Given the description of an element on the screen output the (x, y) to click on. 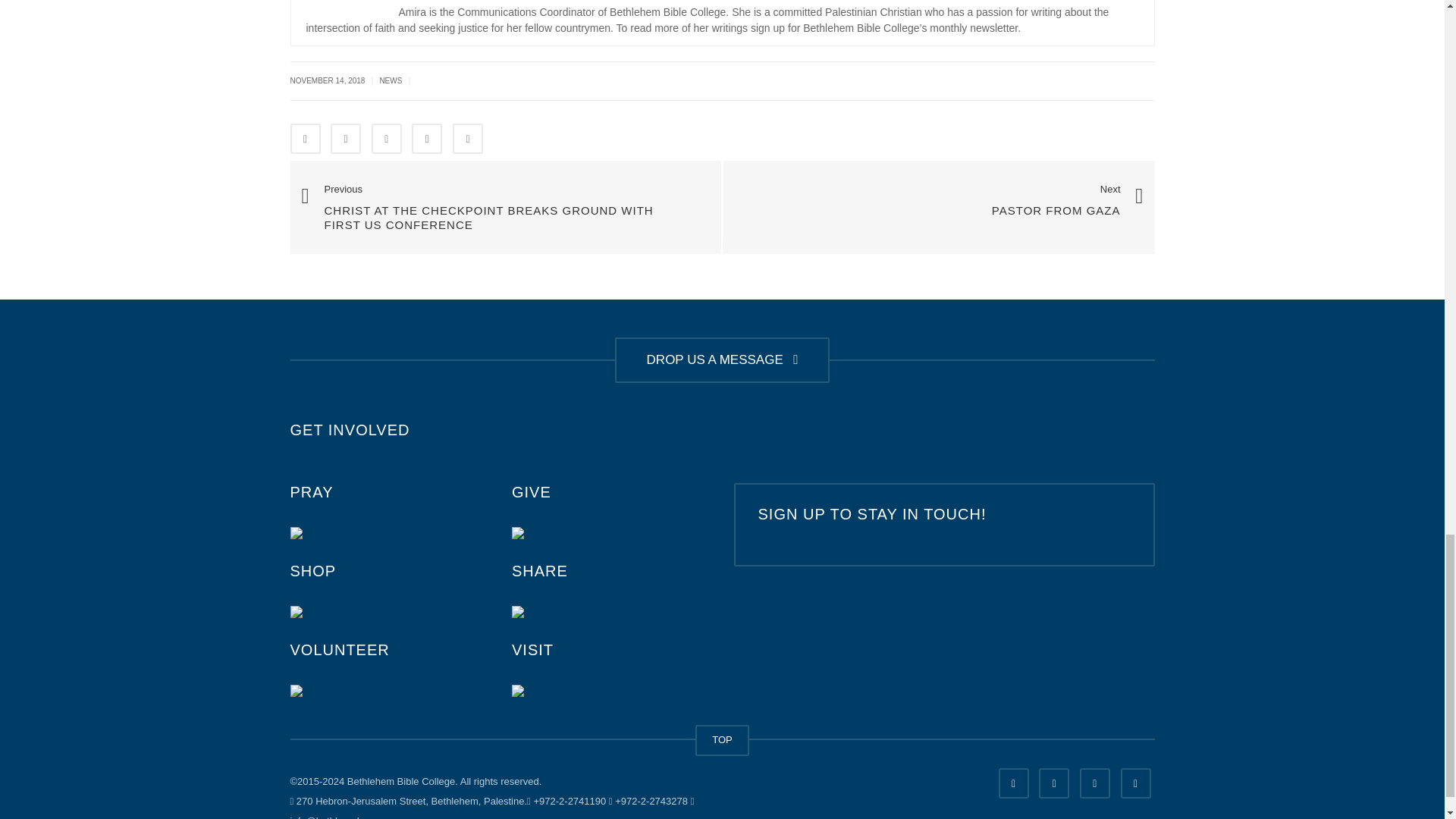
Share on Twitter (345, 138)
Share on Google Plus (427, 138)
Share on LinkedIn (386, 138)
Share on Facebook (304, 138)
